Given the description of an element on the screen output the (x, y) to click on. 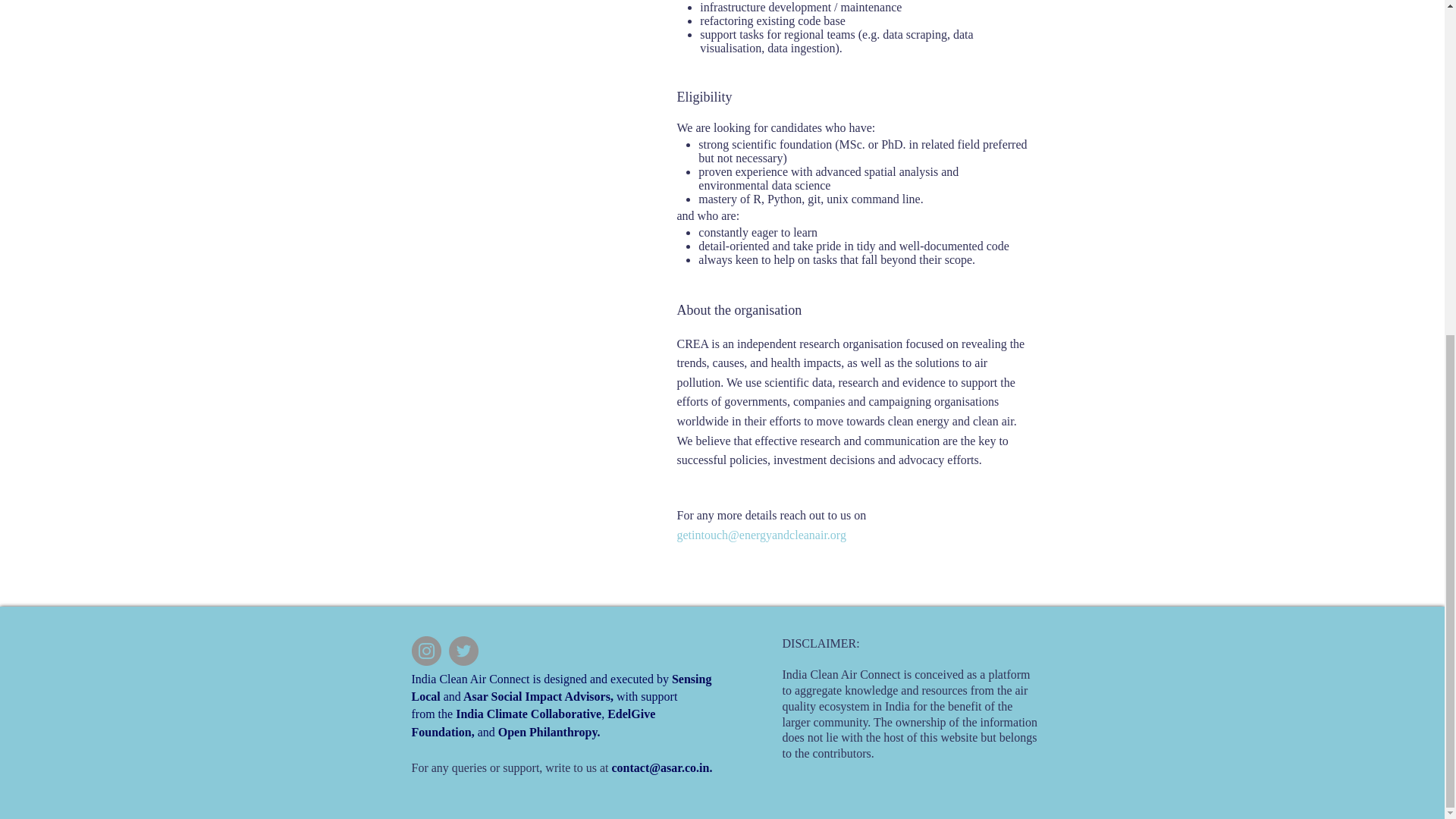
with support from  (543, 705)
Asar Social Impact Advisors, (538, 696)
and (452, 696)
Sensing Local (560, 687)
